Given the description of an element on the screen output the (x, y) to click on. 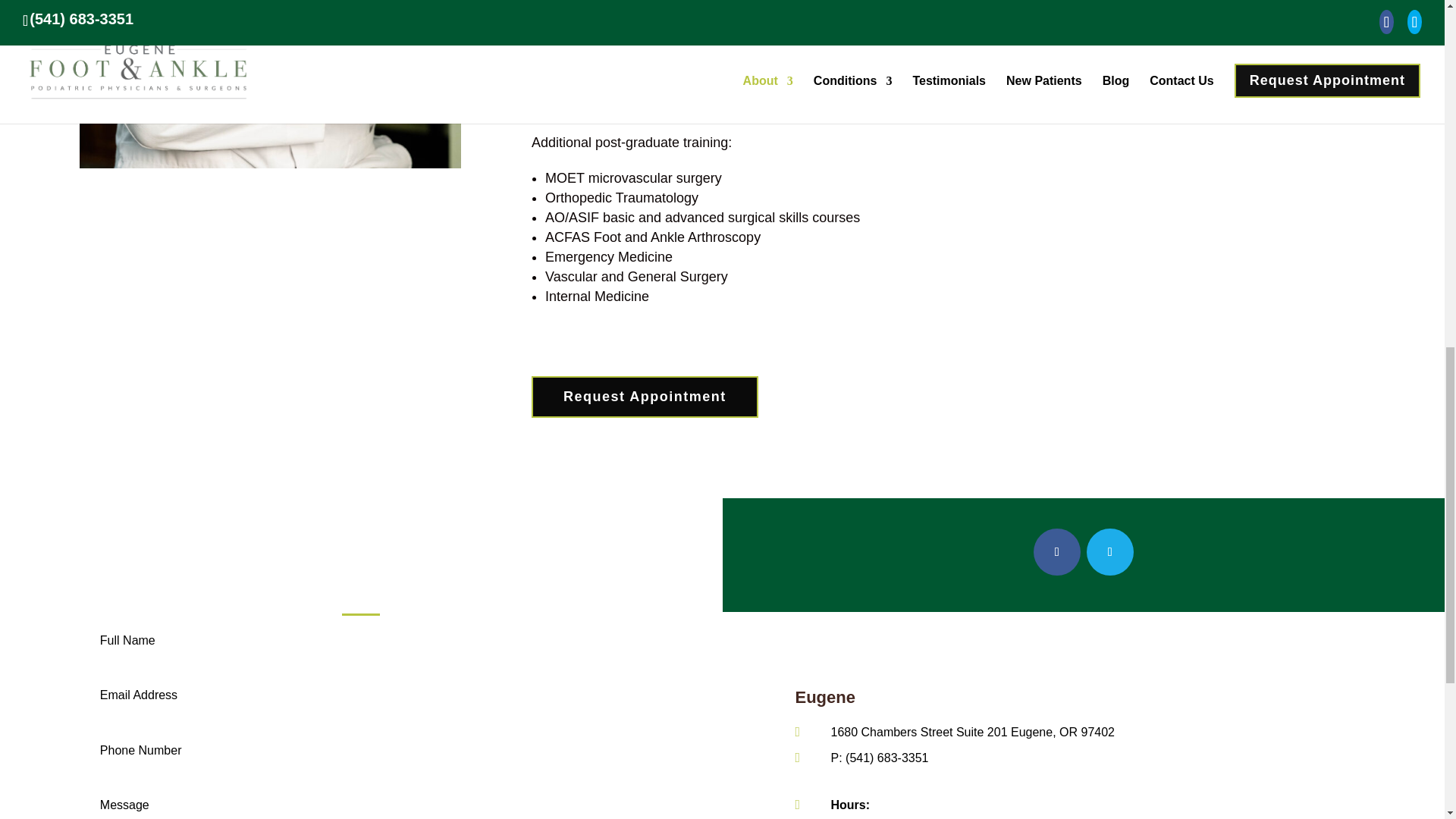
Follow on Facebook (1056, 551)
Follow on X (1110, 551)
1680 Chambers Street Suite 201 Eugene, OR 97402 (973, 731)
Request Appointment (644, 396)
